Given the description of an element on the screen output the (x, y) to click on. 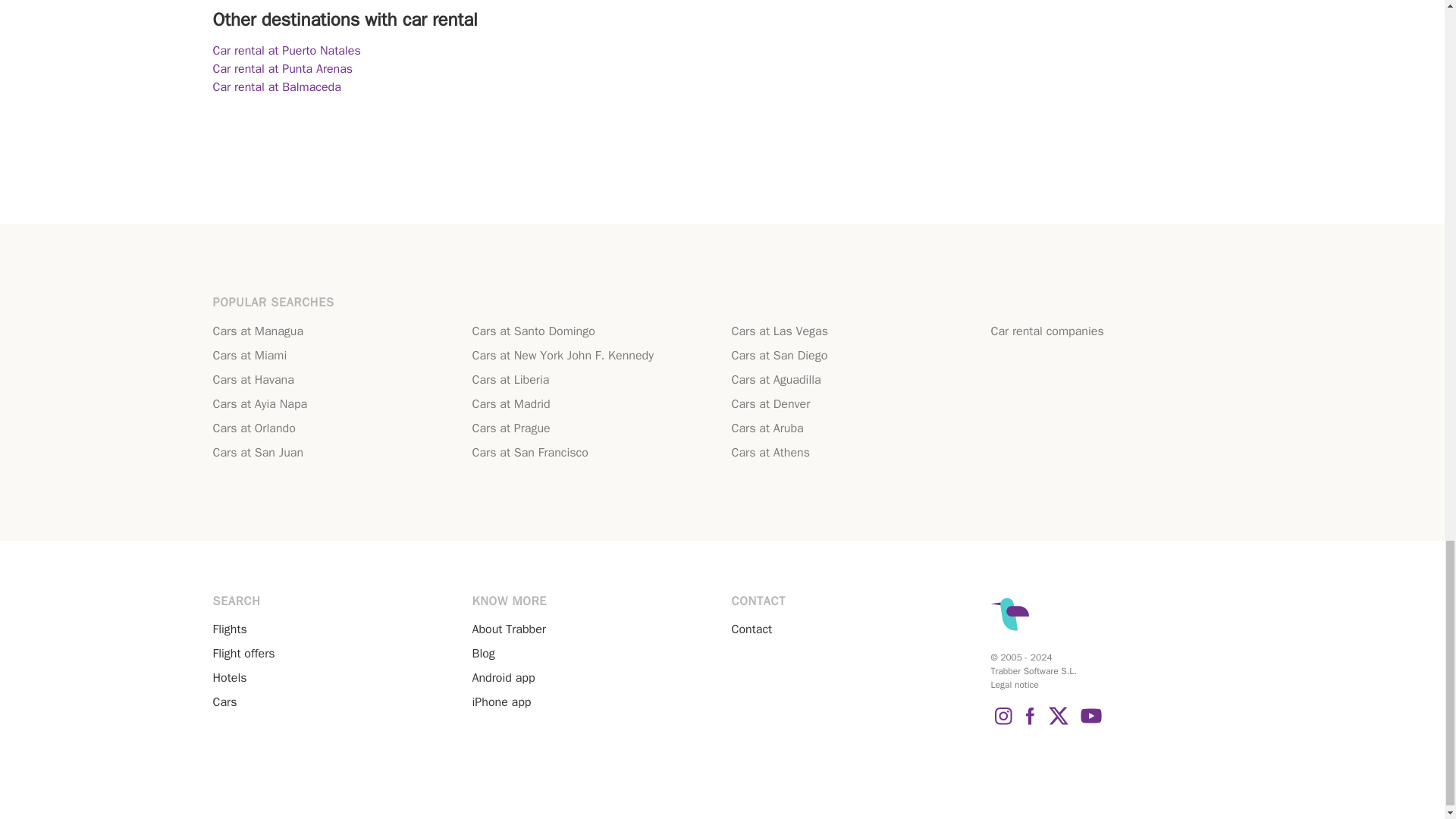
Trabber on Facebook (1029, 724)
Trabber on Instagram (1002, 724)
follow us on X (1058, 724)
